Given the description of an element on the screen output the (x, y) to click on. 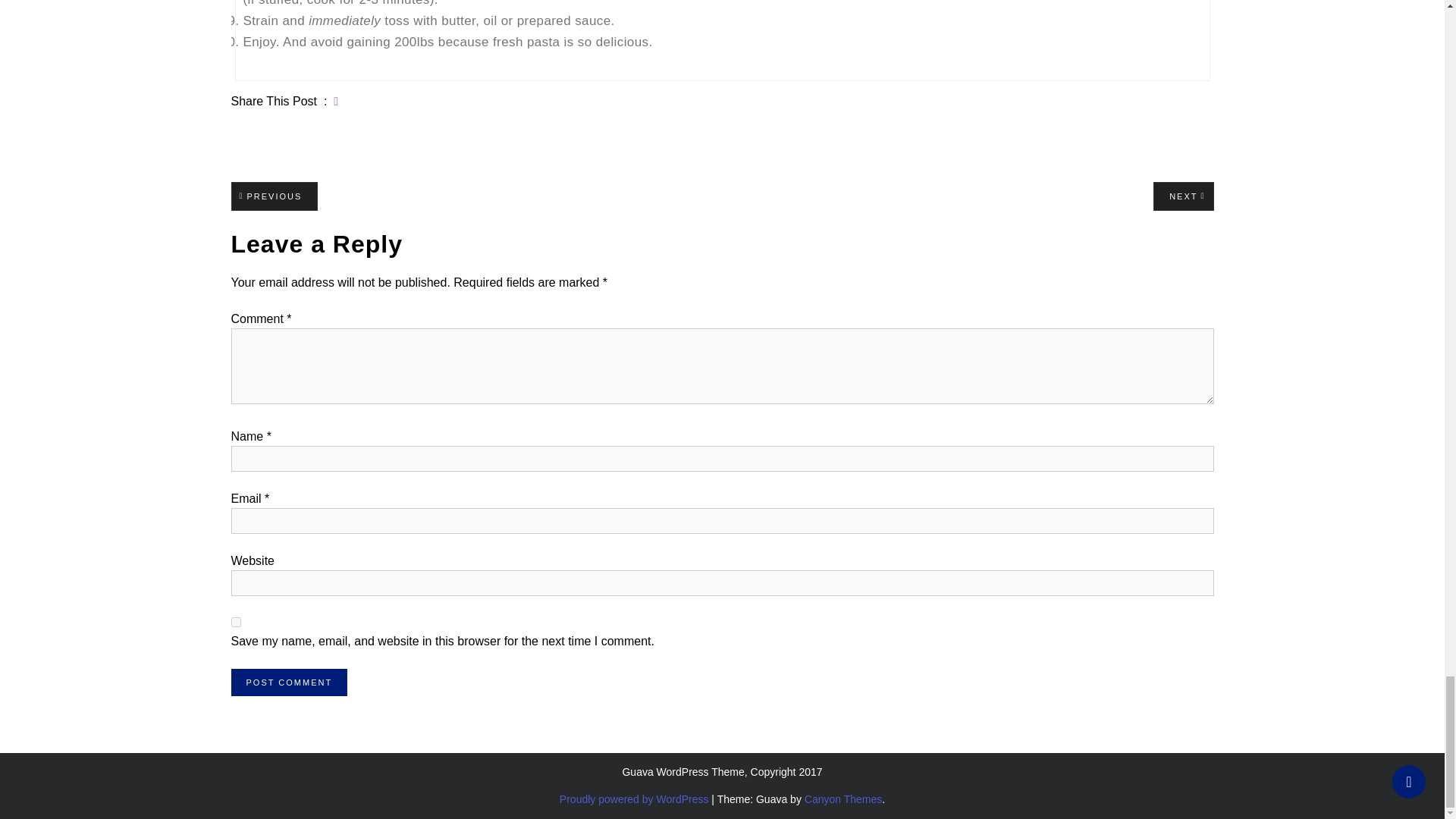
Post Comment (288, 682)
yes (235, 622)
